Given the description of an element on the screen output the (x, y) to click on. 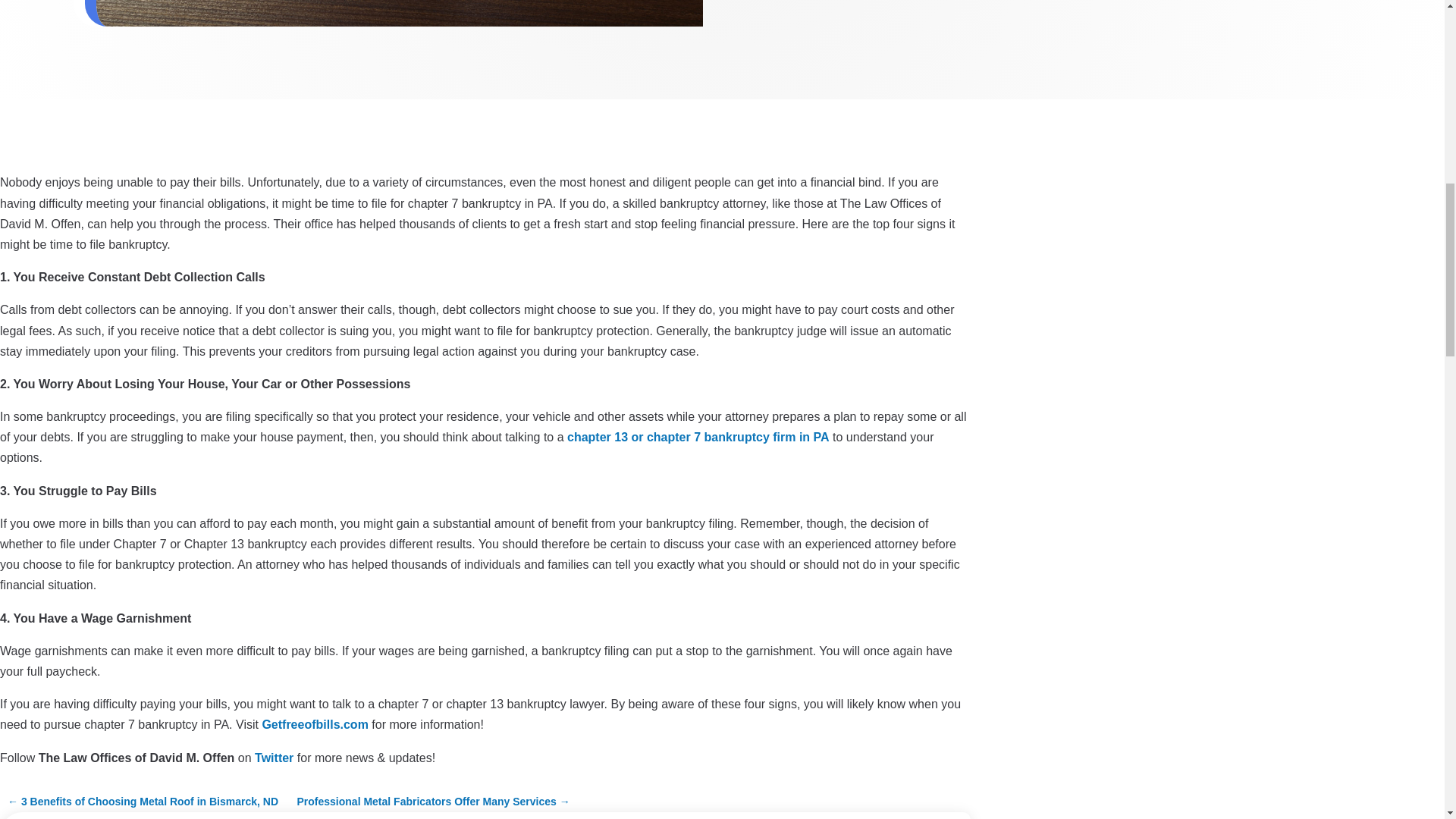
chapter 13 or chapter 7 bankruptcy firm in PA (698, 436)
Getfreeofbills.com (315, 724)
Twitter (274, 757)
